Given the description of an element on the screen output the (x, y) to click on. 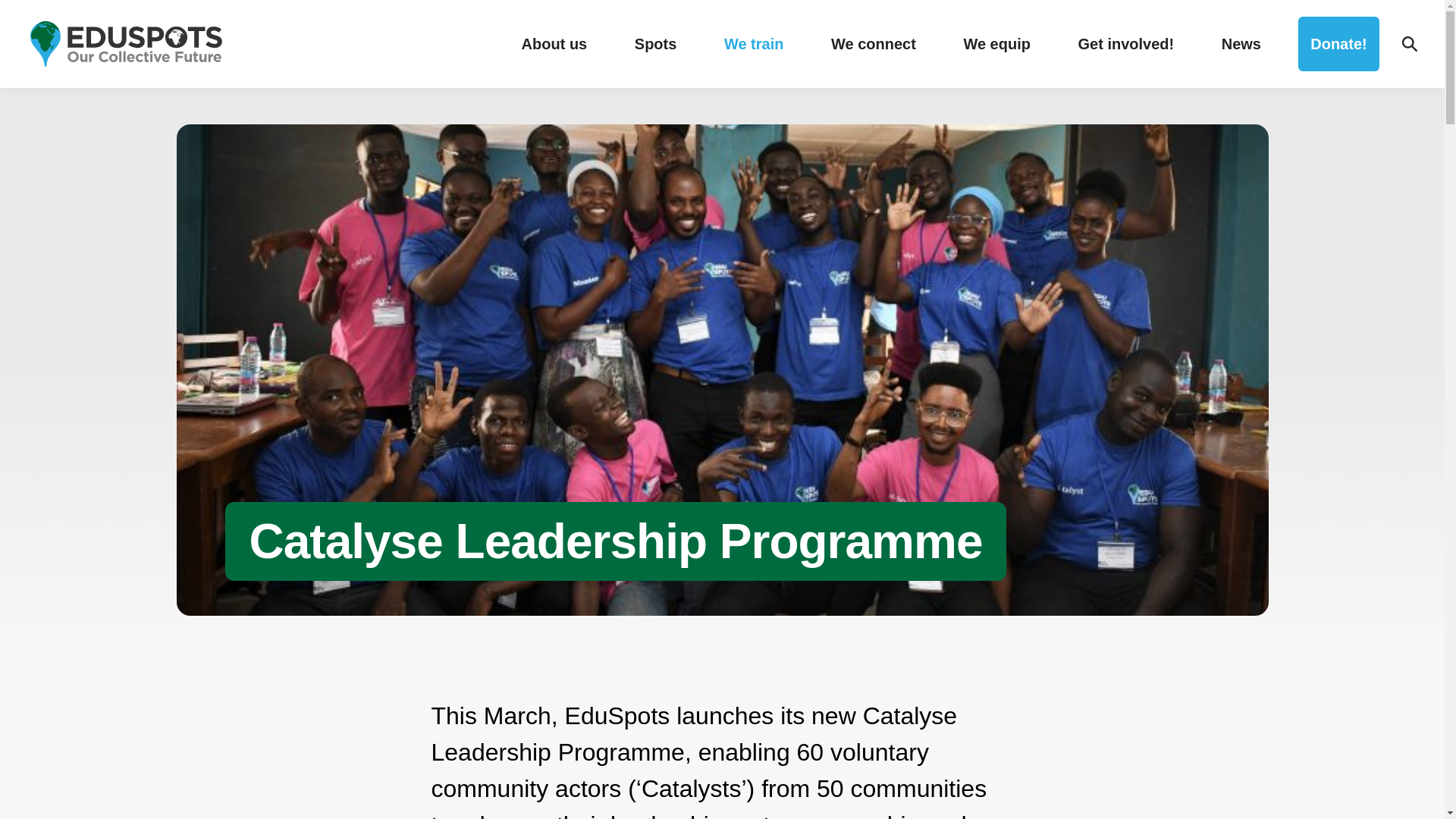
About us (553, 44)
We train (753, 44)
We connect (874, 44)
Spots (655, 44)
